Given the description of an element on the screen output the (x, y) to click on. 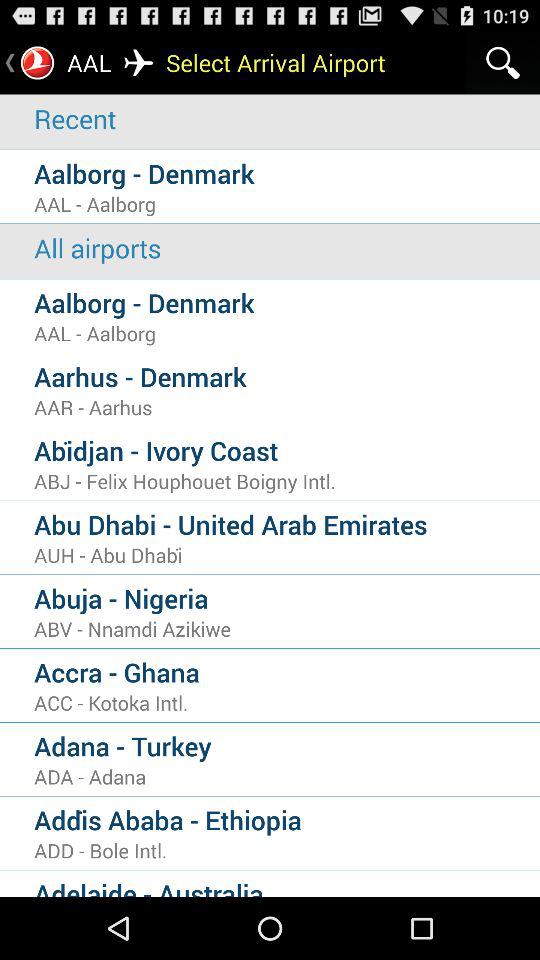
turn on icon below the abuja - nigeria (287, 628)
